Given the description of an element on the screen output the (x, y) to click on. 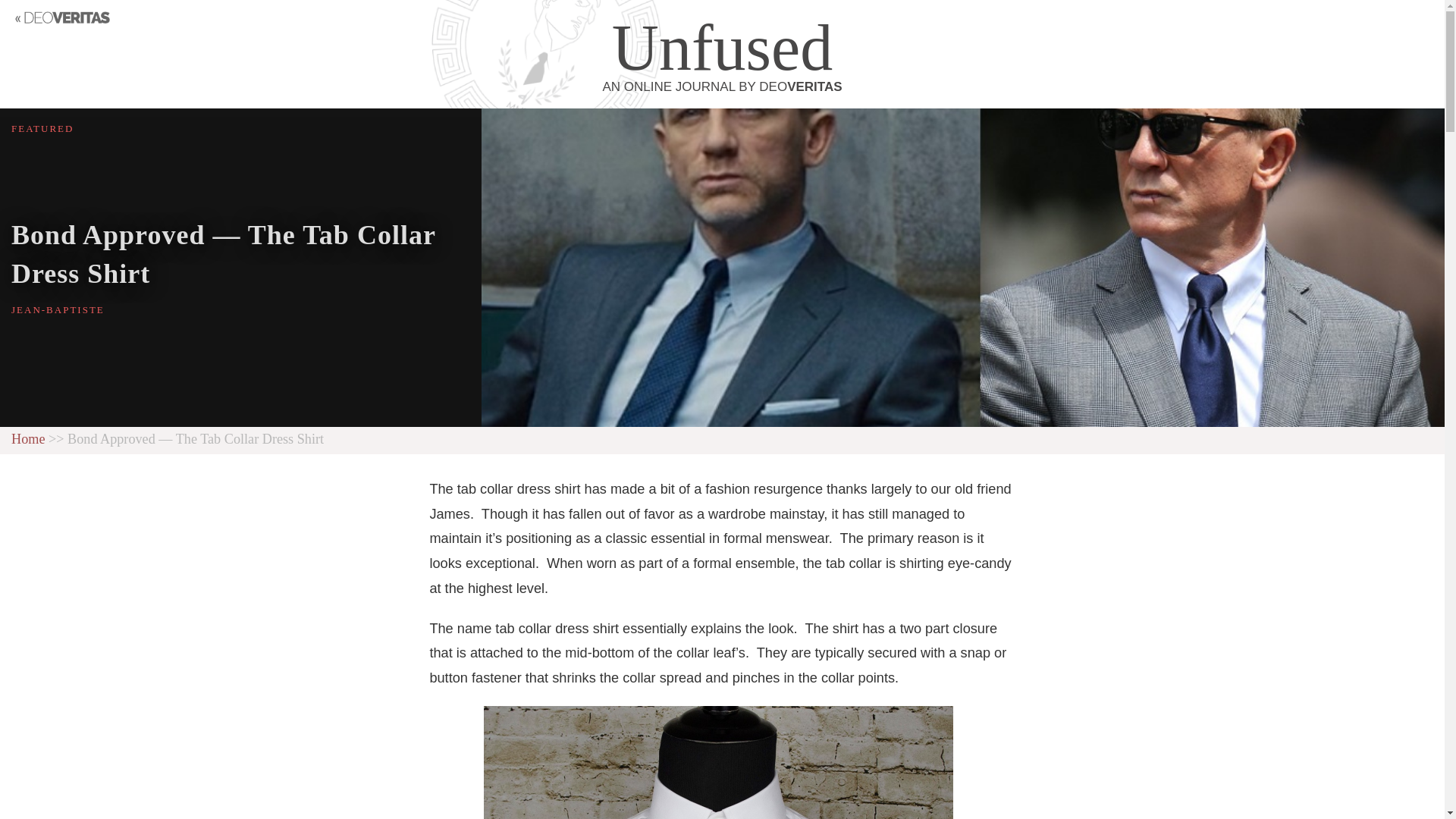
Home (721, 54)
Submit (28, 438)
